Given the description of an element on the screen output the (x, y) to click on. 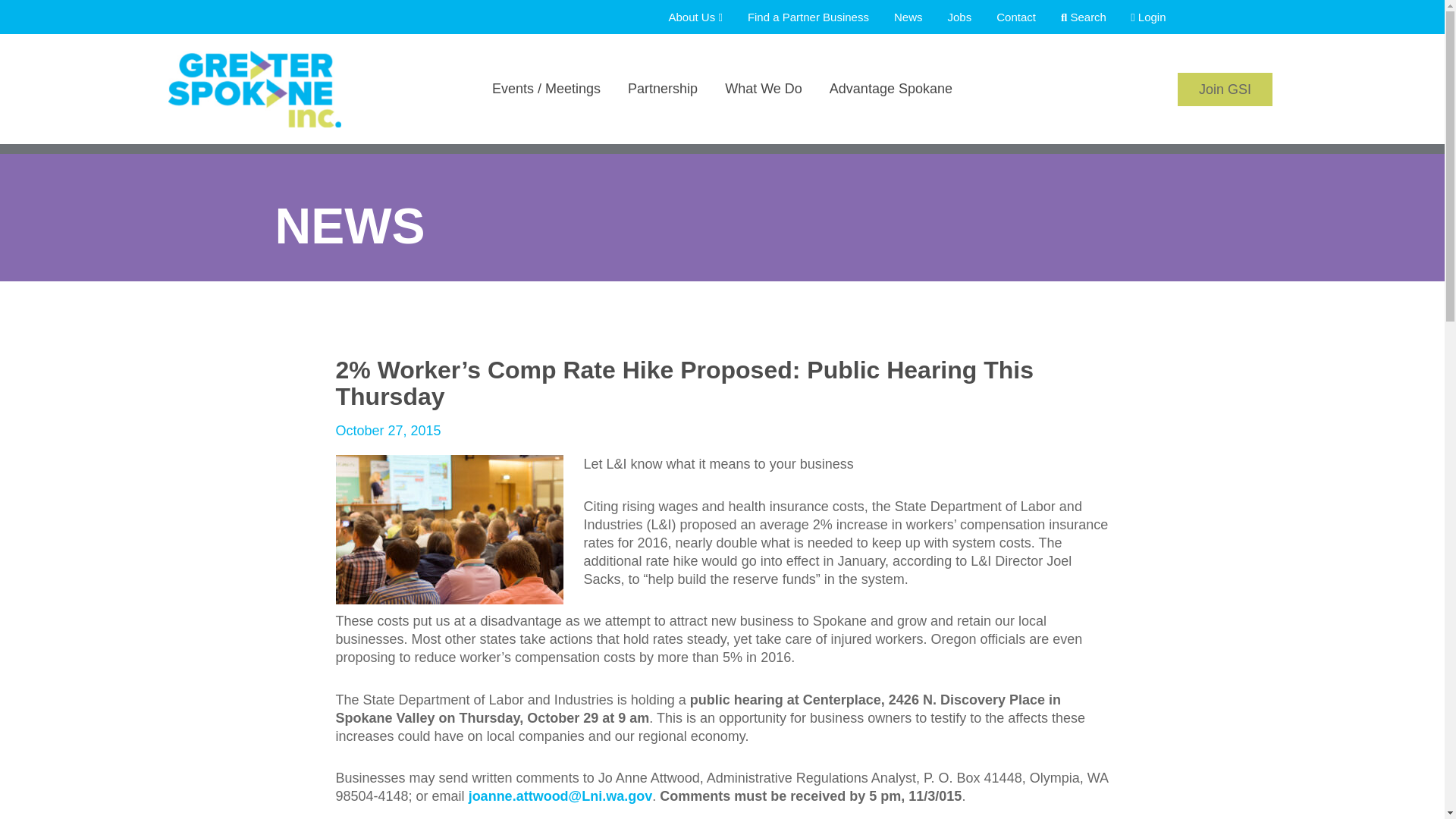
Login (1137, 16)
Contact (1005, 16)
About Us (684, 16)
What We Do (763, 109)
Jobs (949, 16)
Partnership (662, 109)
Search (1074, 16)
News (897, 16)
Find a Partner Business (797, 16)
